Given the description of an element on the screen output the (x, y) to click on. 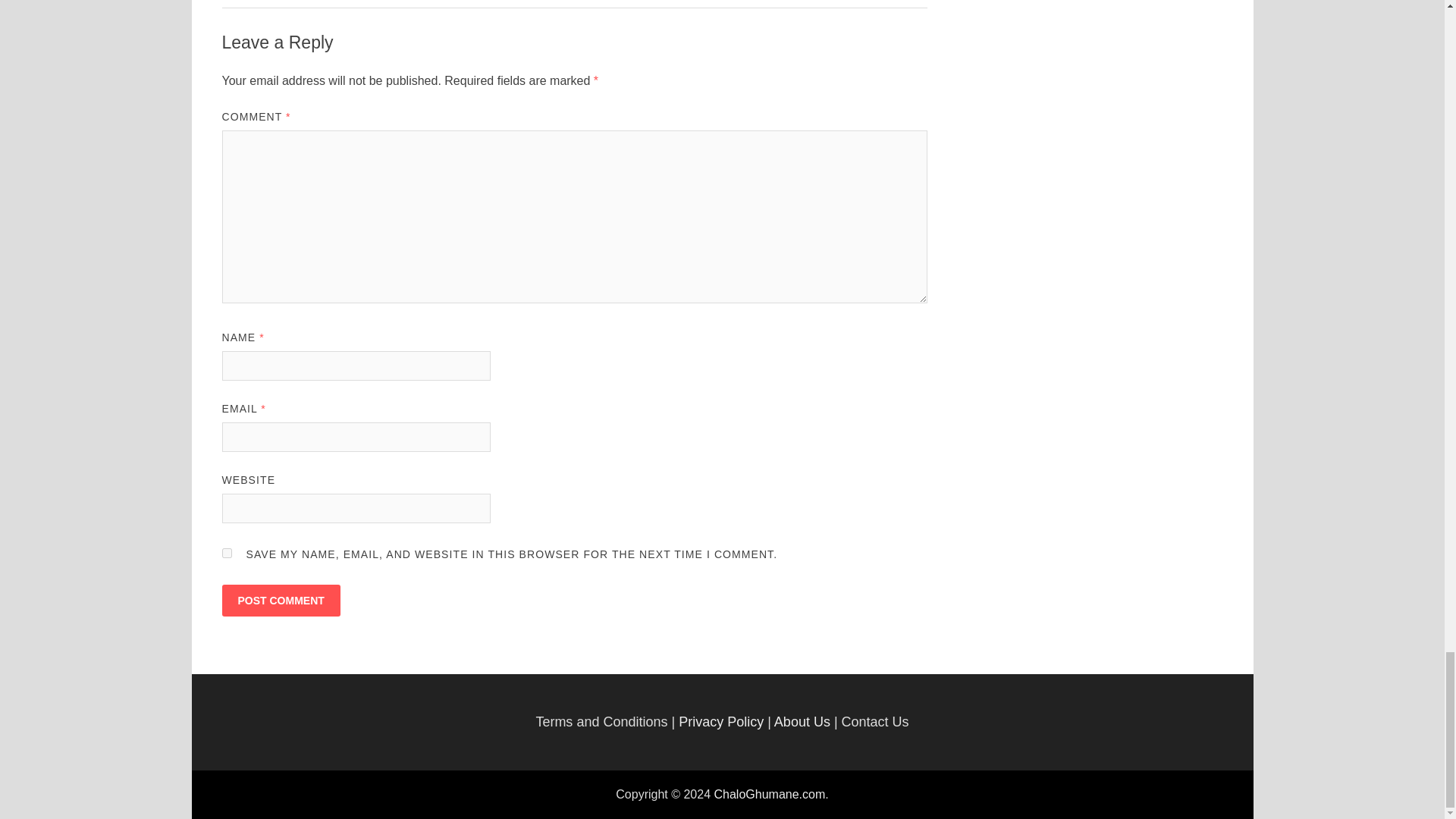
Post Comment (280, 600)
yes (226, 552)
ChaloGhumane.com (769, 793)
